Given the description of an element on the screen output the (x, y) to click on. 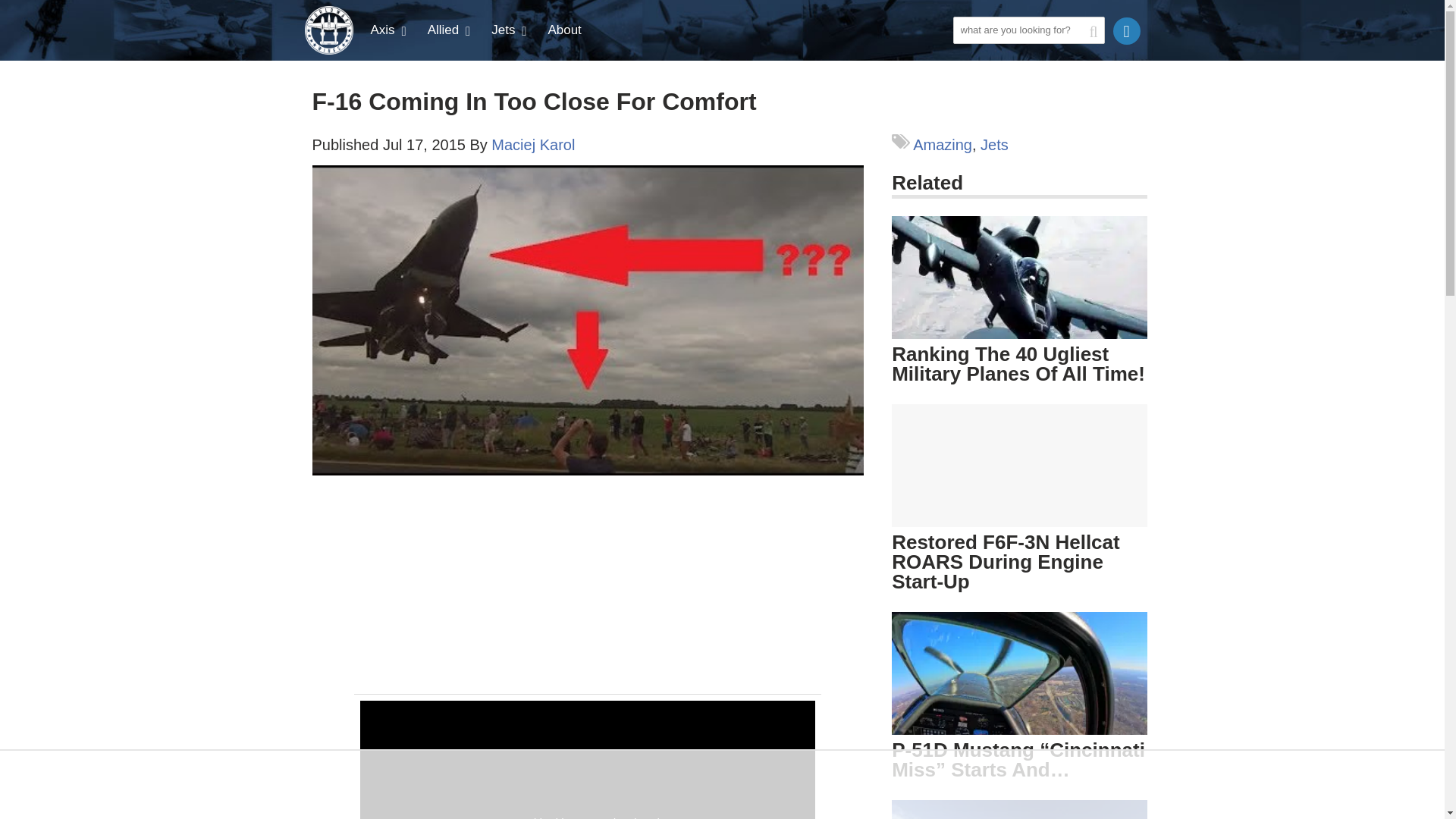
Restored F6F-3N Hellcat ROARS During Engine Start-Up (1005, 561)
Search (967, 56)
Axis (389, 29)
Search for: (1027, 30)
Ranking The 40 Ugliest Military Planes Of All Time! (1019, 300)
Search (967, 56)
Jets (509, 29)
Ranking The 40 Ugliest Military Planes Of All Time! (1019, 277)
Allied (449, 29)
Restored F6F-3N Hellcat ROARS During Engine Start-Up (1019, 465)
Ranking The 40 Ugliest Military Planes Of All Time! (1017, 363)
